Given the description of an element on the screen output the (x, y) to click on. 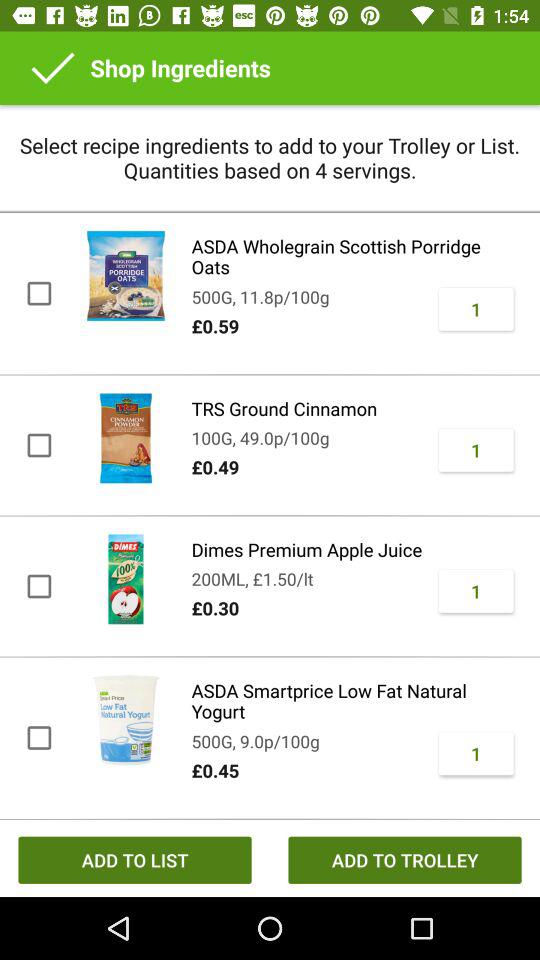
choose icon above the select recipe ingredients item (53, 68)
